Given the description of an element on the screen output the (x, y) to click on. 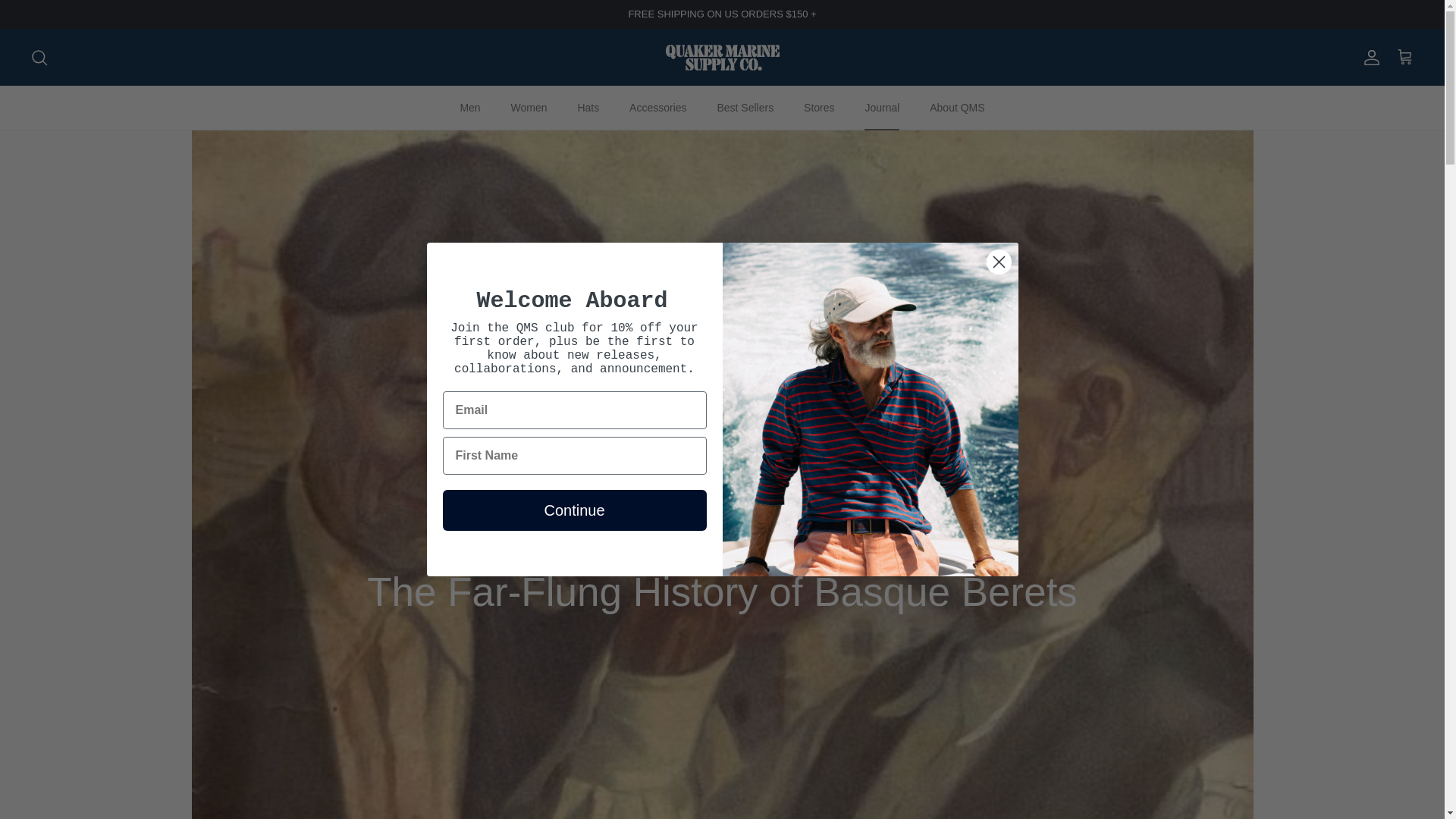
Men (469, 107)
Close dialog 1 (998, 261)
Hats (587, 107)
Search (39, 57)
Account (1368, 57)
Women (528, 107)
Quaker Marine Supply Co. (721, 57)
Cart (1404, 57)
